Given the description of an element on the screen output the (x, y) to click on. 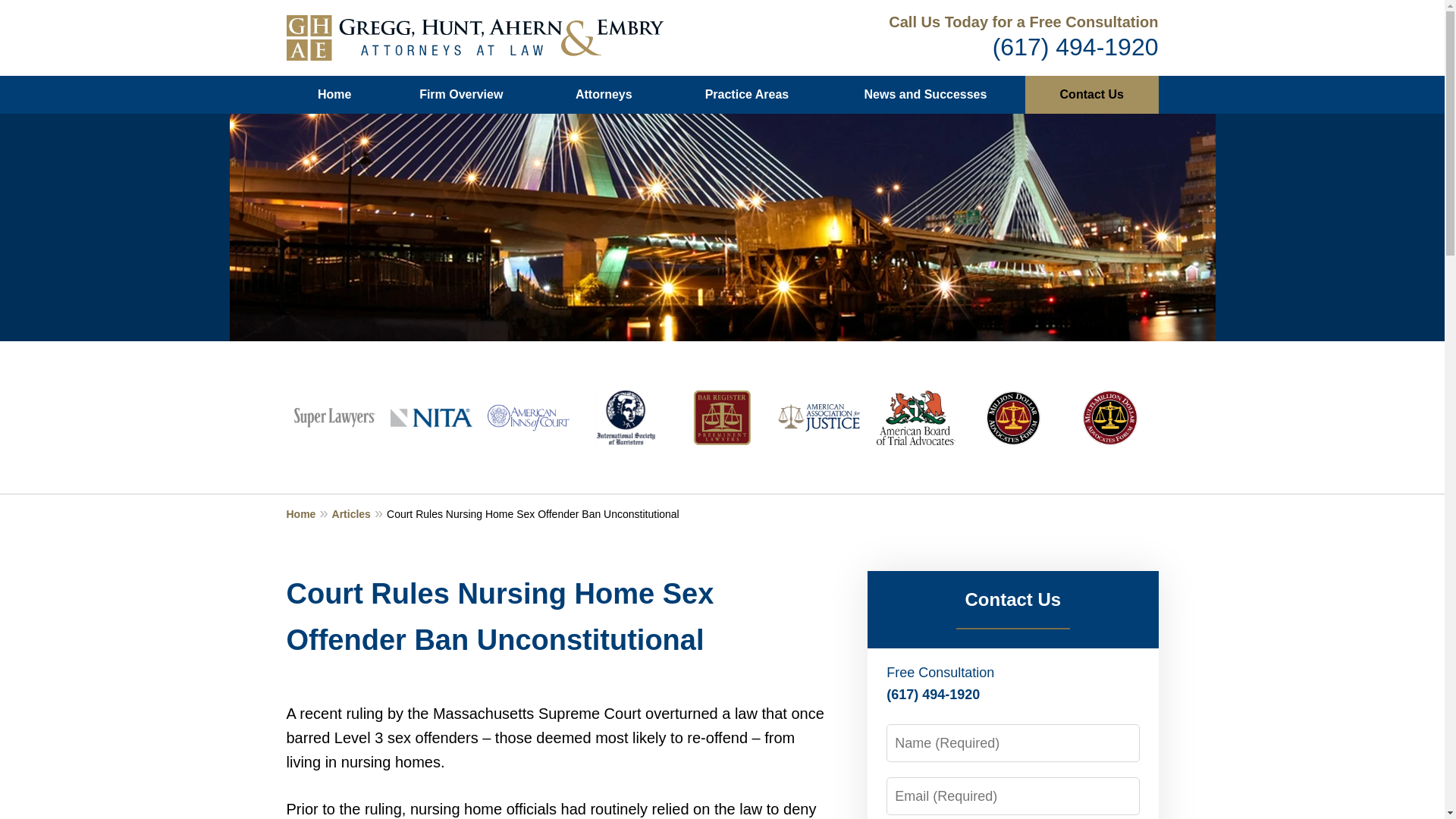
Practice Areas (746, 94)
News and Successes (925, 94)
Home (308, 513)
Articles (359, 513)
Attorneys (604, 94)
Contact Us (1091, 94)
Home (334, 94)
Call Us Today for a Free Consultation (1022, 21)
Firm Overview (461, 94)
